Given the description of an element on the screen output the (x, y) to click on. 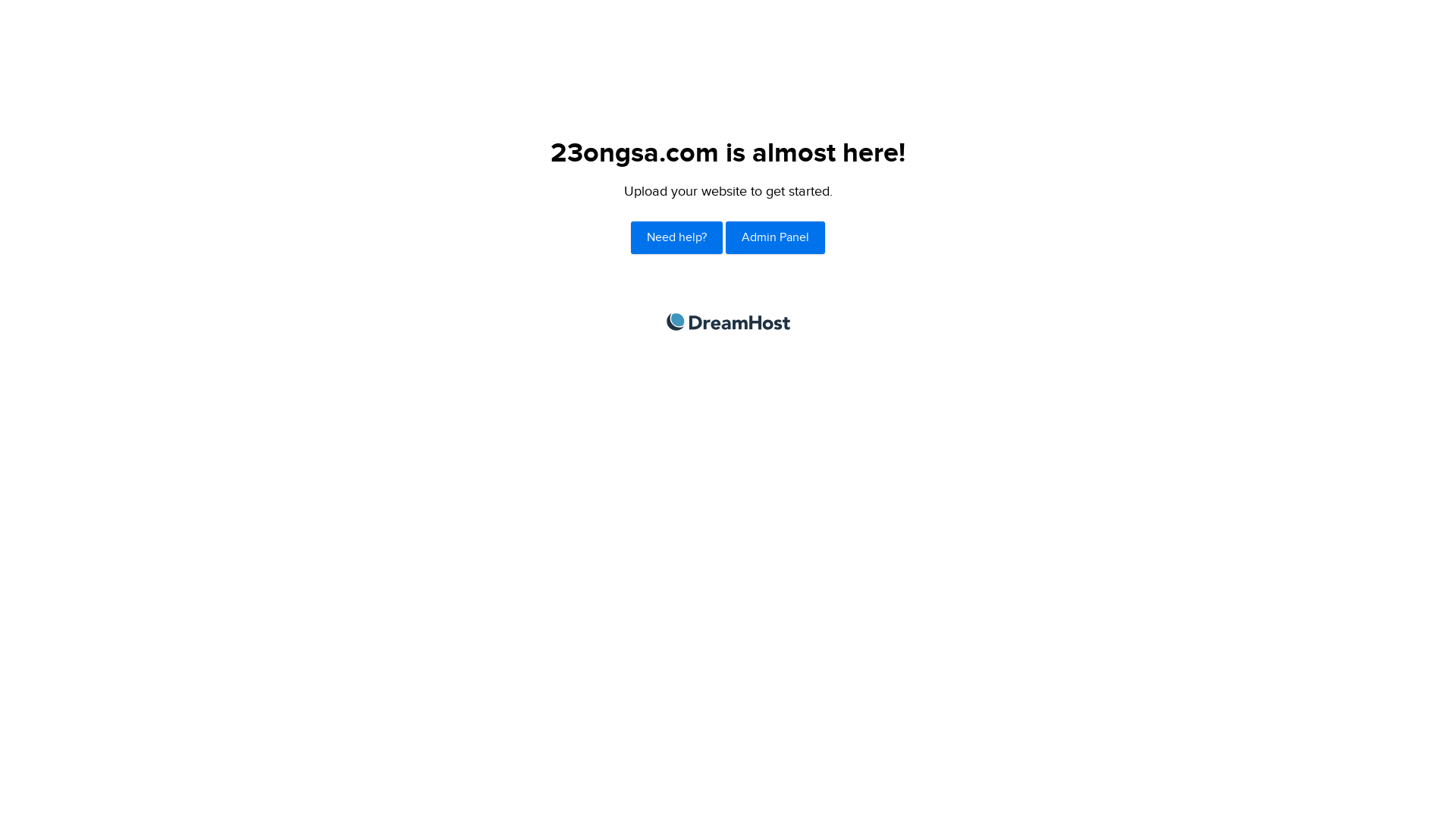
Need help? Element type: text (676, 237)
DreamHost Element type: text (727, 320)
Admin Panel Element type: text (775, 237)
